Given the description of an element on the screen output the (x, y) to click on. 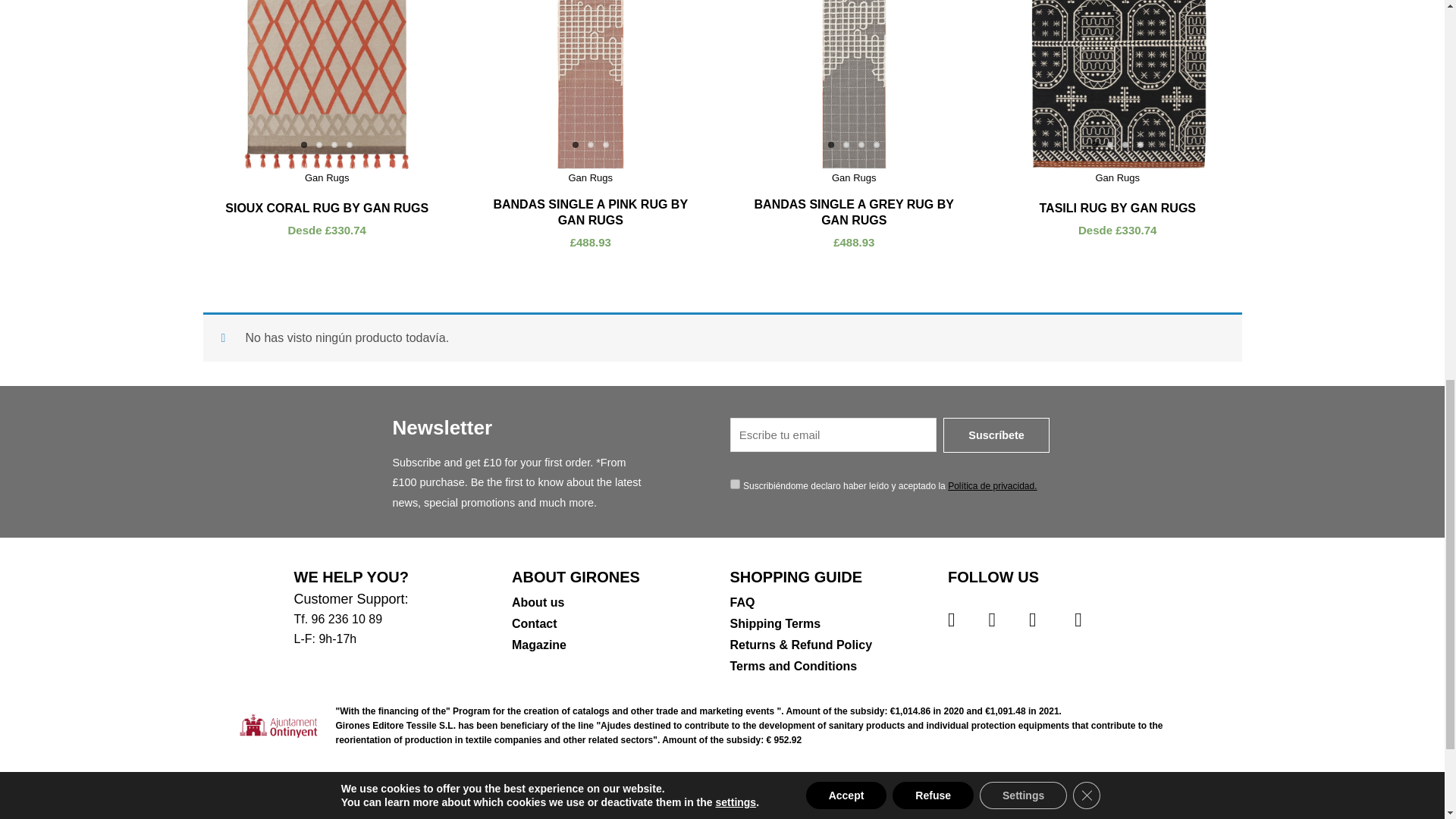
1 (734, 483)
